Given the description of an element on the screen output the (x, y) to click on. 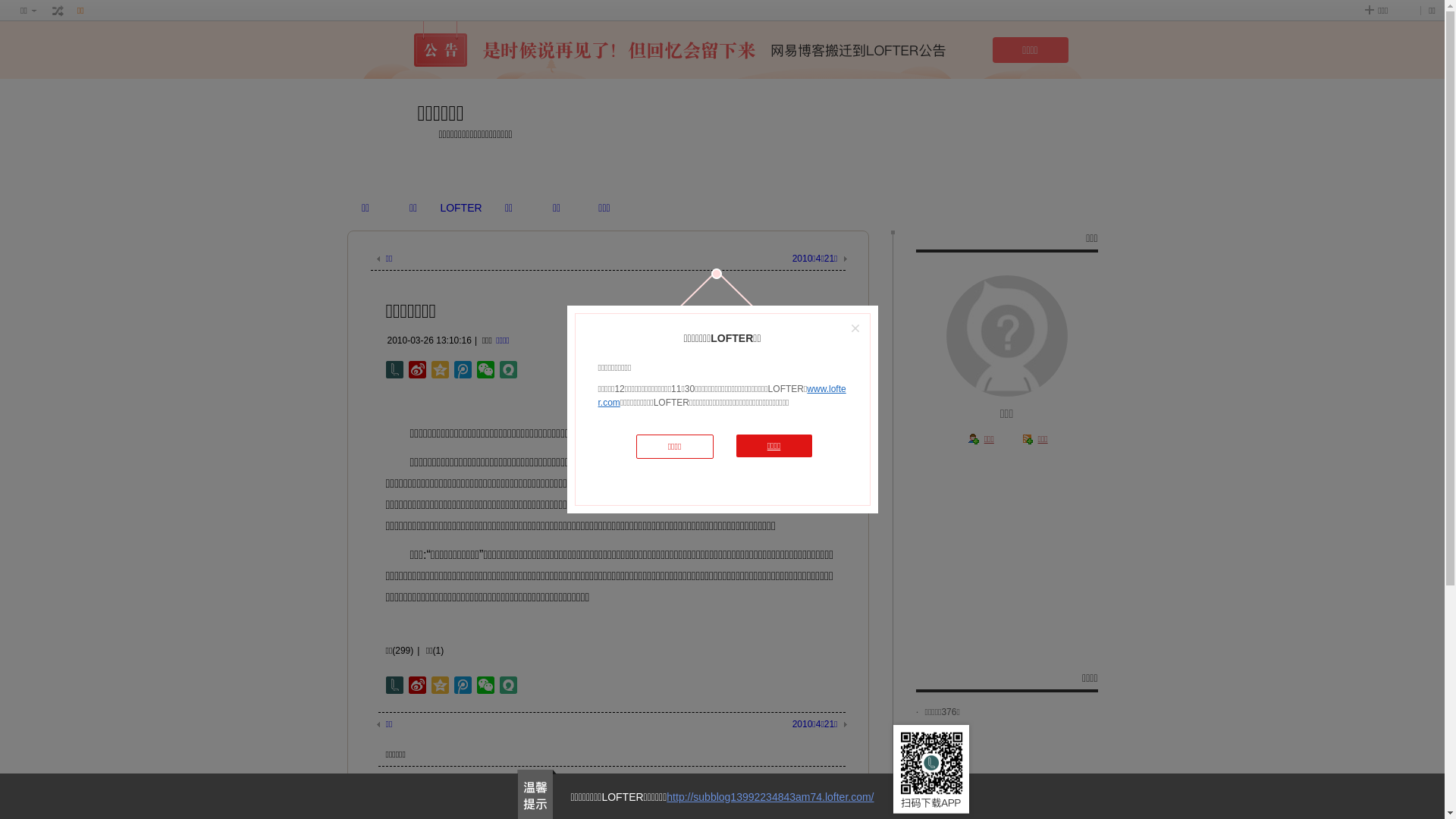
http://subblog13992234843am74.lofter.com/ Element type: text (769, 796)
  Element type: text (58, 10)
www.lofter.com Element type: text (721, 395)
LOFTER Element type: text (460, 207)
